Given the description of an element on the screen output the (x, y) to click on. 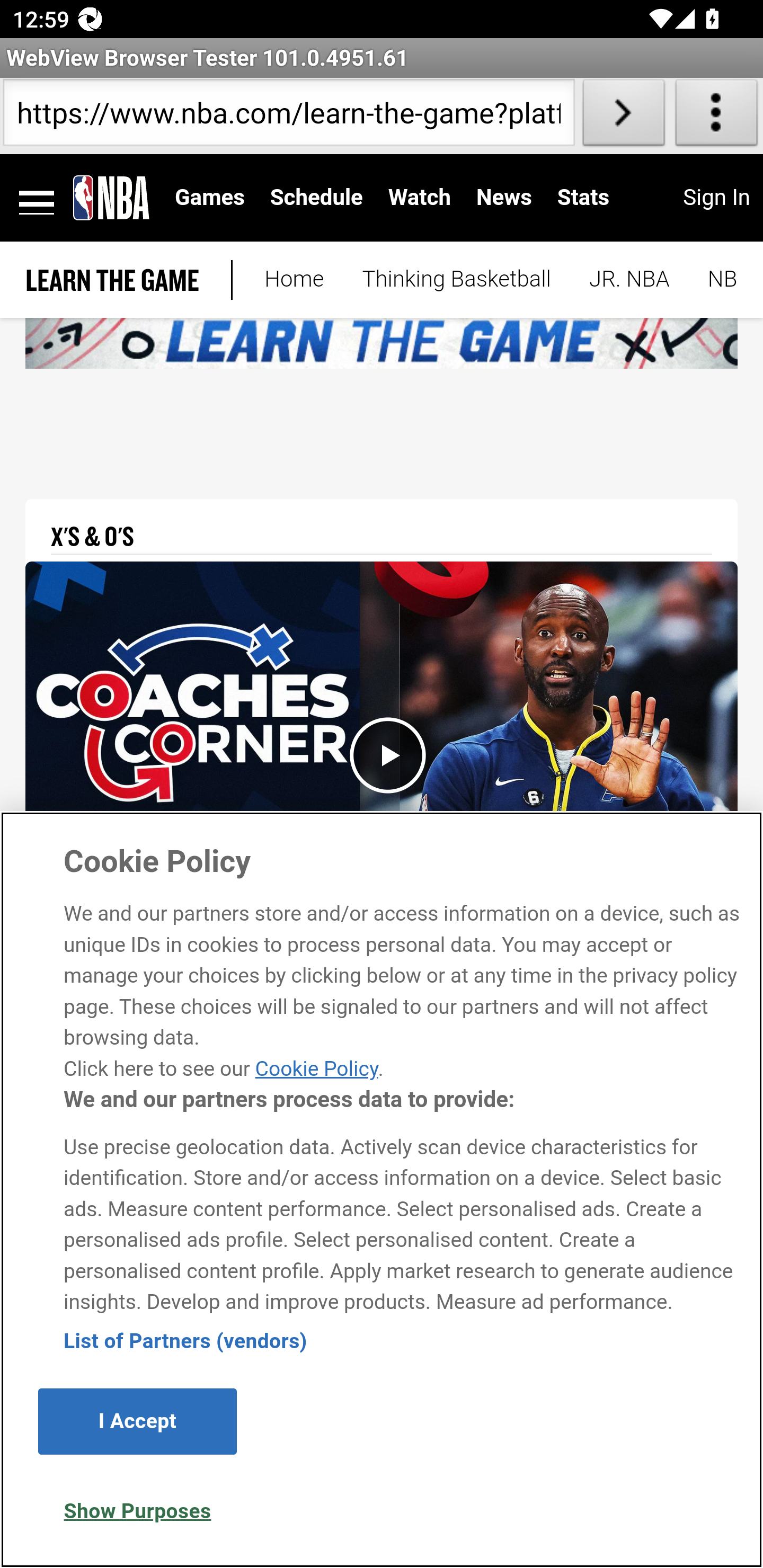
Load URL (623, 115)
About WebView (716, 115)
Games (209, 197)
Schedule (315, 197)
Watch (419, 197)
News (503, 197)
Stats (583, 197)
Sign In (716, 197)
NBA Logo NBA NBA Logo NBA (111, 197)
Global Navigation Toggle (36, 197)
Home (293, 279)
Thinking Basketball (455, 279)
JR. NBA (629, 279)
NBA Official (712, 279)
Cookie Policy (316, 1068)
List of Partners (vendors) (185, 1340)
I Accept (137, 1421)
Show Purposes (137, 1511)
